Given the description of an element on the screen output the (x, y) to click on. 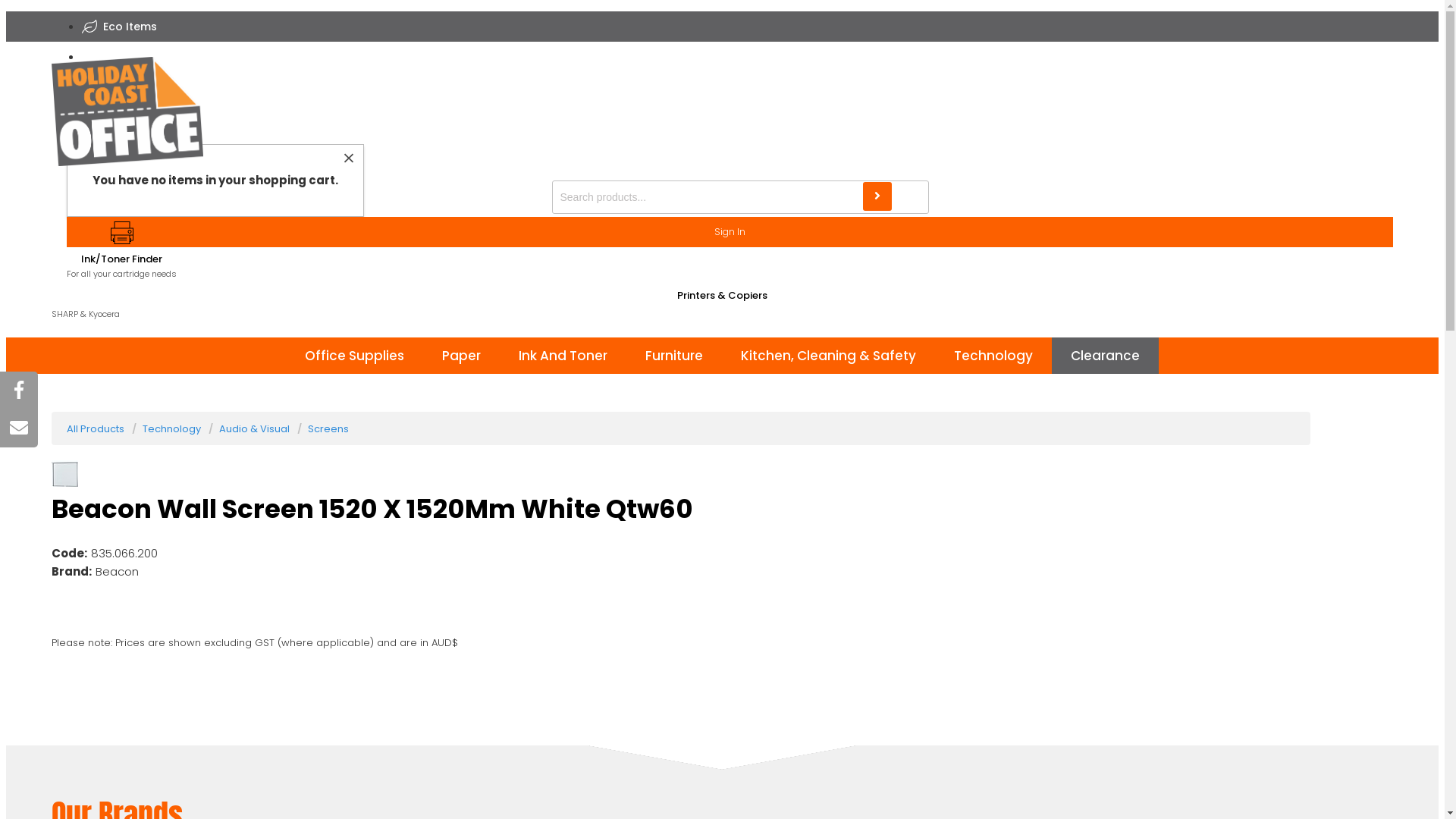
Audio & Visual Element type: text (254, 428)
Technology Element type: text (171, 428)
Australia Made Element type: text (141, 86)
Paper Element type: text (461, 355)
Technology Element type: text (993, 355)
Indigenous Element type: text (133, 56)
Kitchen, Cleaning & Safety Element type: text (828, 355)
Eco Items Element type: text (126, 26)
Printers & Copiers
SHARP & Kyocera Element type: text (722, 318)
Ink/Toner Finder
For all your cartridge needs Element type: text (121, 250)
Registration Element type: text (722, 128)
Clearance Element type: text (1104, 355)
Screens Element type: text (327, 428)
Ink And Toner Element type: text (562, 355)
Sign In Element type: text (729, 231)
All Products Element type: text (95, 428)
Office Supplies Element type: text (354, 355)
Furniture Element type: text (673, 355)
